Given the description of an element on the screen output the (x, y) to click on. 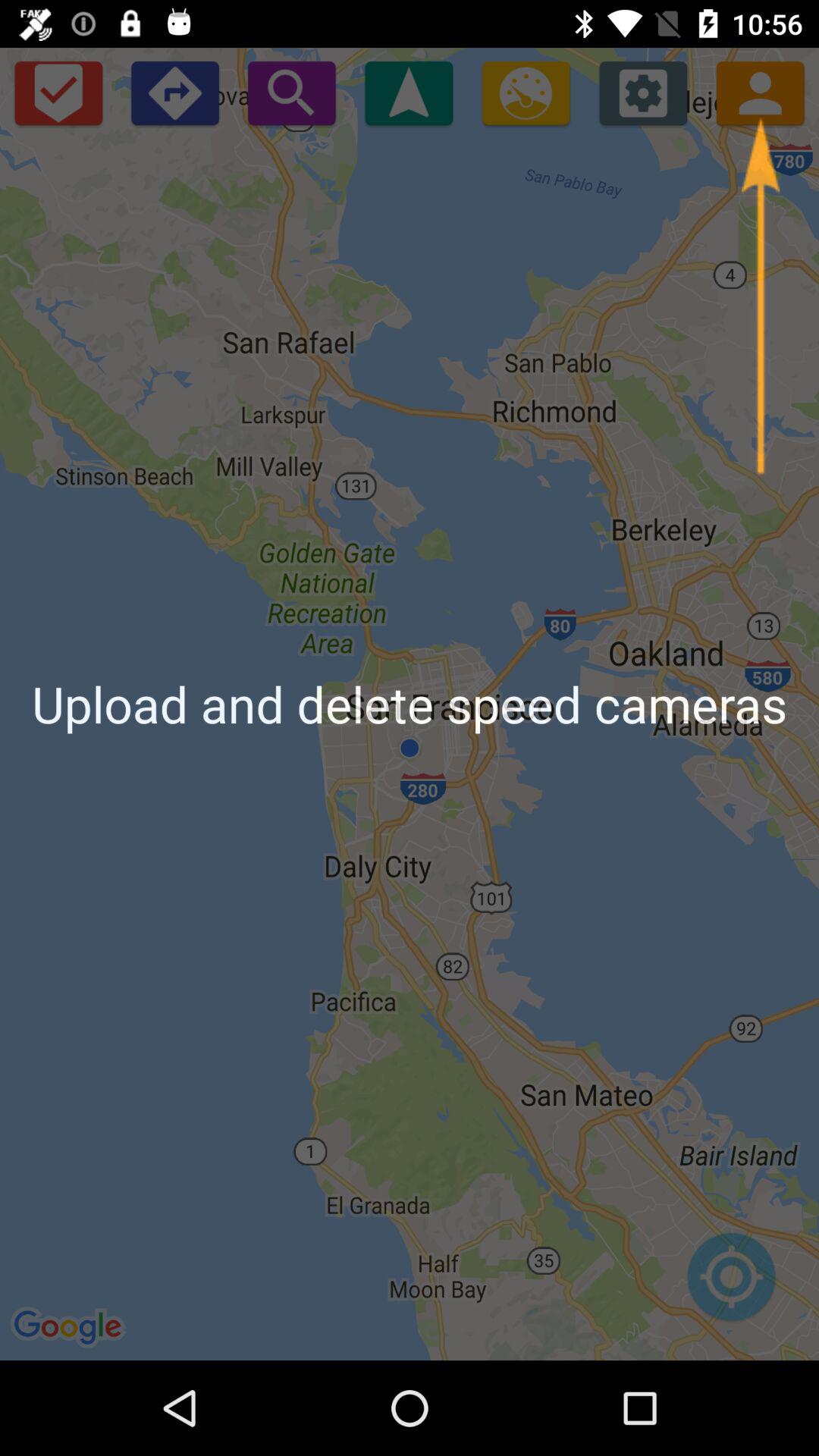
location (731, 1284)
